Given the description of an element on the screen output the (x, y) to click on. 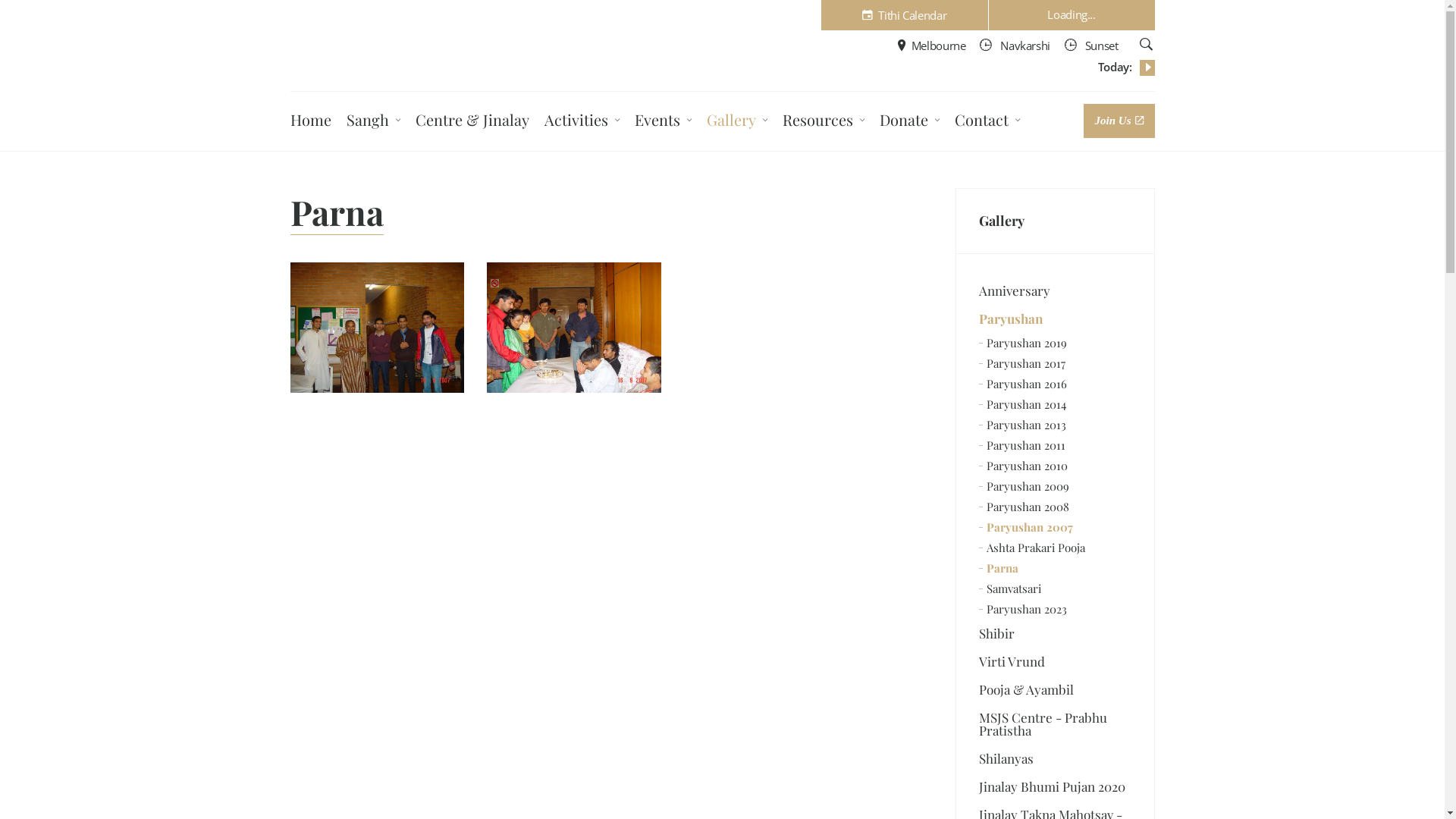
Contact Element type: text (989, 121)
Virti Vrund Element type: text (1055, 661)
Paryushan 2019 Element type: text (1055, 342)
MSJS Centre - Prabhu Pratistha Element type: text (1055, 723)
Gallery Element type: text (740, 121)
Paryushan 2017 Element type: text (1055, 363)
Paryushan 2007 Element type: text (1055, 527)
Events Element type: text (665, 121)
Anniversary Element type: text (1055, 290)
Paryushan 2011 Element type: text (1055, 445)
Gallery Element type: text (1055, 220)
Jinalay Bhumi Pujan 2020 Element type: text (1055, 786)
Paryushan 2008 Element type: text (1055, 506)
Sangh Element type: text (376, 121)
Paryushan Element type: text (1055, 318)
Tithi Calendar Element type: text (903, 15)
Pooja & Ayambil Element type: text (1055, 689)
Paryushan 2009 Element type: text (1055, 486)
Ashta Prakari Pooja Element type: text (1055, 547)
Centre & Jinalay Element type: text (472, 121)
Join Us Element type: text (1118, 120)
Activities Element type: text (585, 121)
Parna Element type: text (1055, 568)
Home Element type: text (309, 121)
Donate Element type: text (913, 121)
Resources Element type: text (827, 121)
Paryushan 2016 Element type: text (1055, 383)
Shilanyas Element type: text (1055, 758)
Paryushan 2023 Element type: text (1055, 609)
Shibir Element type: text (1055, 633)
Paryushan 2013 Element type: text (1055, 424)
Paryushan 2014 Element type: text (1055, 404)
Melbourne Shwetambar Jain Sangh Inc. Element type: text (370, 43)
Samvatsari Element type: text (1055, 588)
Paryushan 2010 Element type: text (1055, 465)
